Given the description of an element on the screen output the (x, y) to click on. 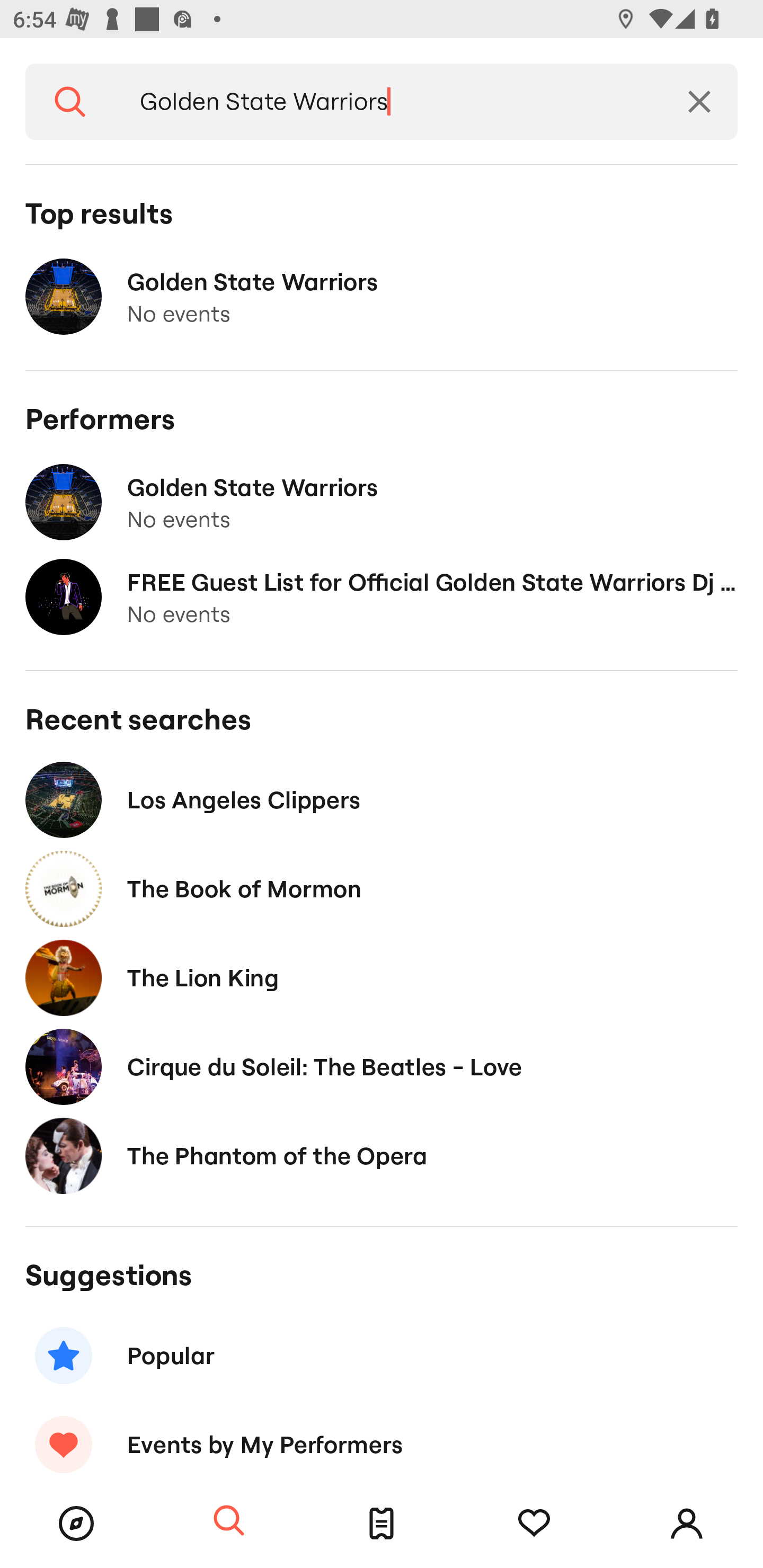
Search (69, 101)
Golden State Warriors (387, 101)
Clear (699, 101)
Golden State Warriors No events (381, 296)
Golden State Warriors No events (381, 502)
Los Angeles Clippers (381, 800)
The Book of Mormon (381, 888)
The Lion King (381, 977)
Cirque du Soleil: The Beatles - Love (381, 1066)
The Phantom of the Opera (381, 1156)
Popular (381, 1355)
Events by My Performers (381, 1439)
Browse (76, 1523)
Search (228, 1521)
Tickets (381, 1523)
Tracking (533, 1523)
Account (686, 1523)
